Given the description of an element on the screen output the (x, y) to click on. 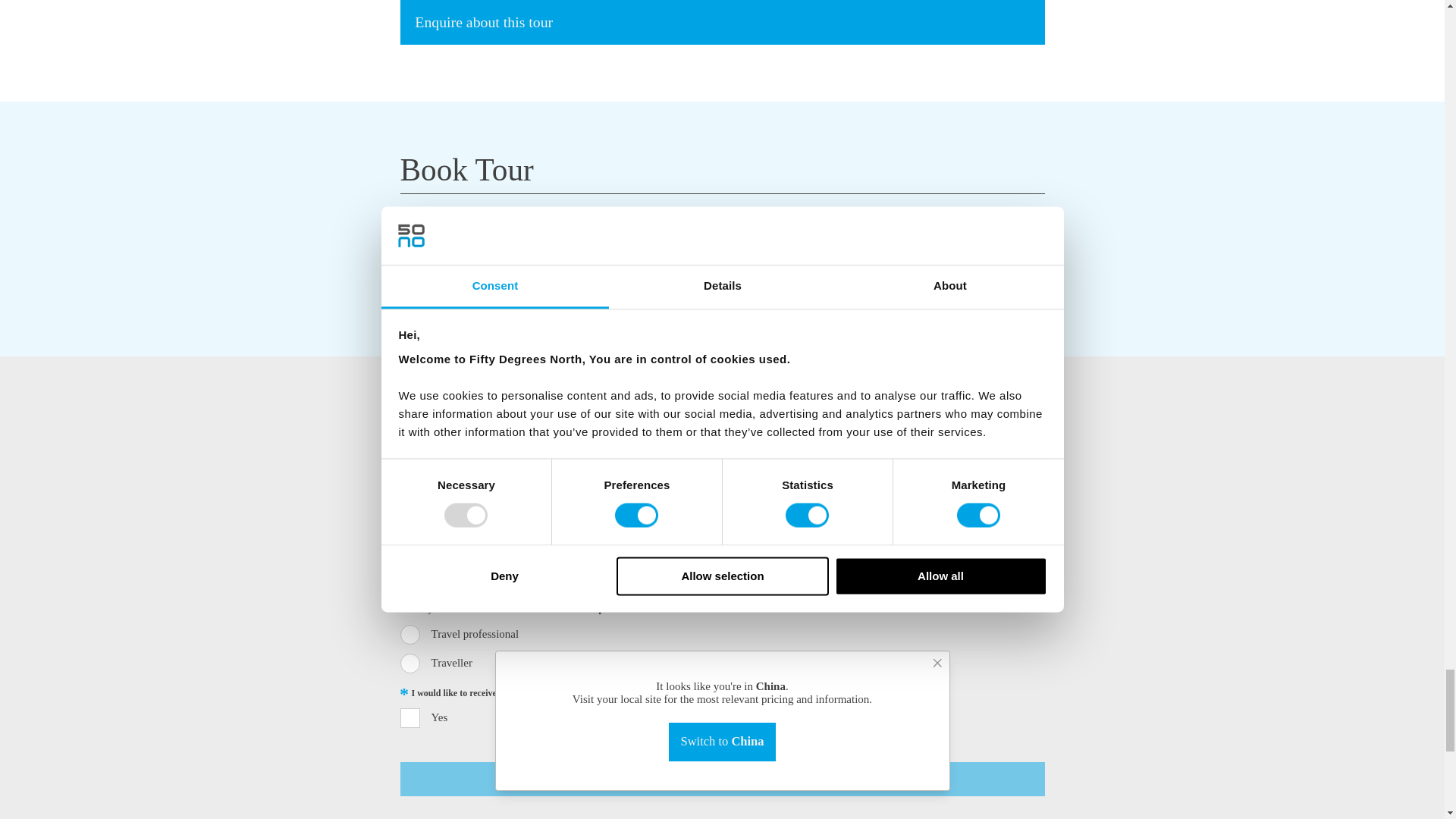
00NVg000000RE0T (410, 634)
1 (410, 718)
00NVg000000RE25 (410, 663)
